Given the description of an element on the screen output the (x, y) to click on. 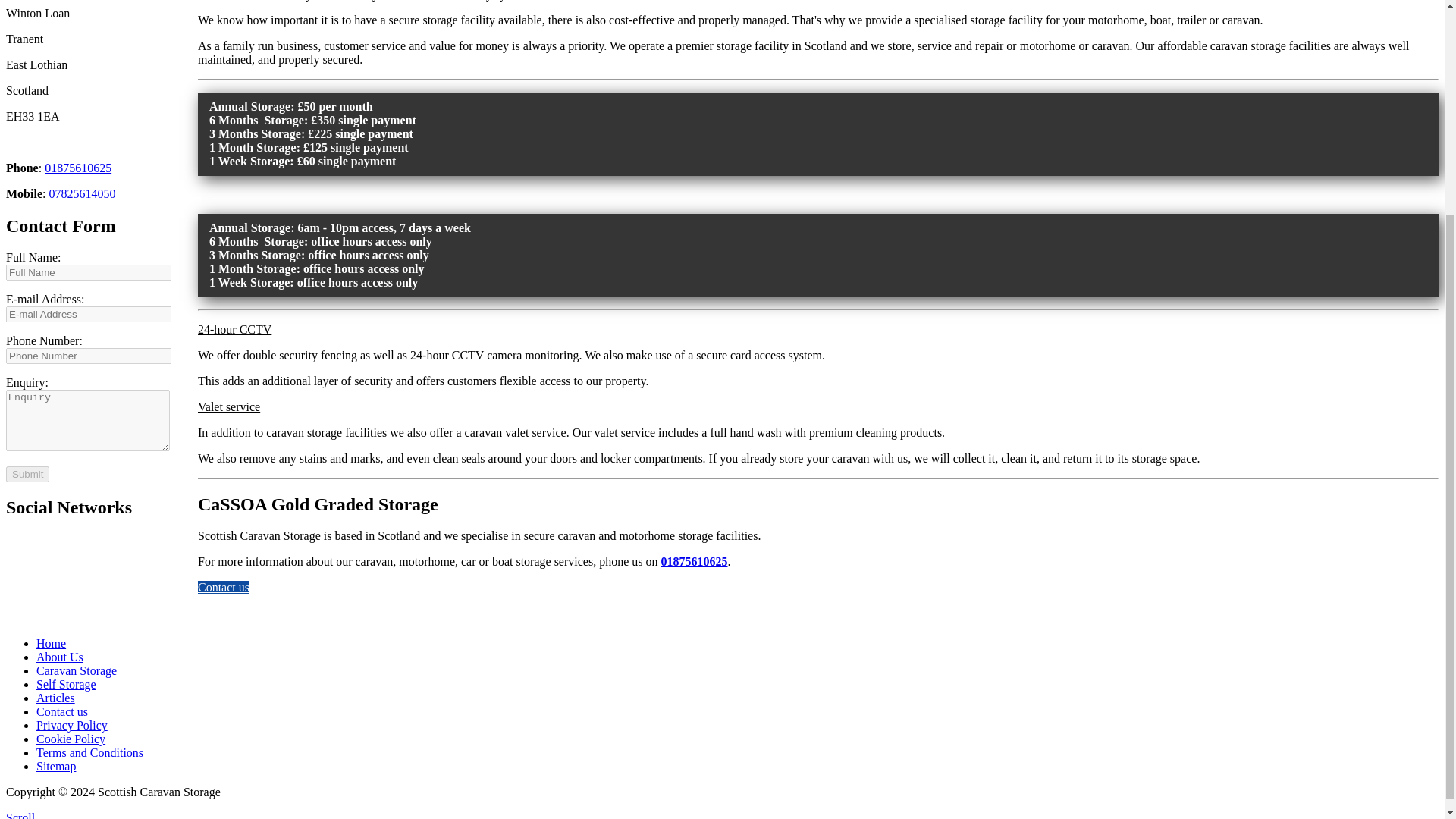
About Us (59, 656)
Self Storage (66, 684)
Sitemap (55, 766)
Submit (27, 474)
Home (50, 643)
sitemap (55, 766)
Caravan Storage (76, 670)
Privacy Policy (71, 725)
Submit (27, 474)
Self Storage (66, 684)
Articles (55, 697)
Terms and Conditions (89, 752)
07825614050 (81, 193)
01875610625 (693, 561)
Privacy Policy (71, 725)
